Given the description of an element on the screen output the (x, y) to click on. 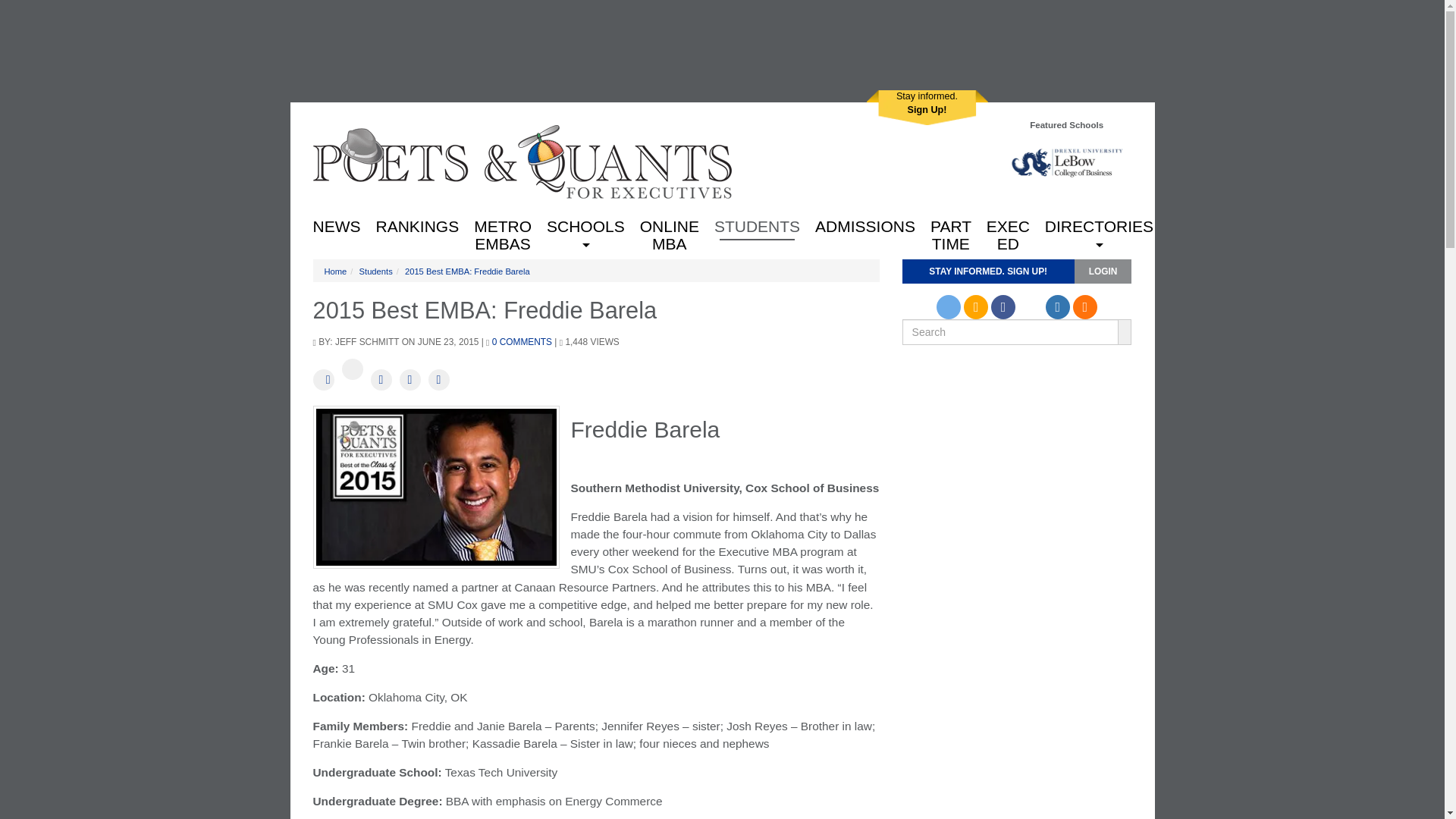
DIRECTORIES (1098, 224)
Metro EMBAs (501, 224)
PART TIME (926, 107)
EXEC ED (950, 224)
Rankings (1007, 224)
METRO EMBAS (417, 224)
Home (501, 224)
NEWS (521, 160)
ADMISSIONS (336, 224)
News (865, 224)
Schools (336, 224)
SCHOOLS (584, 224)
Register (584, 224)
STUDENTS (926, 107)
